Given the description of an element on the screen output the (x, y) to click on. 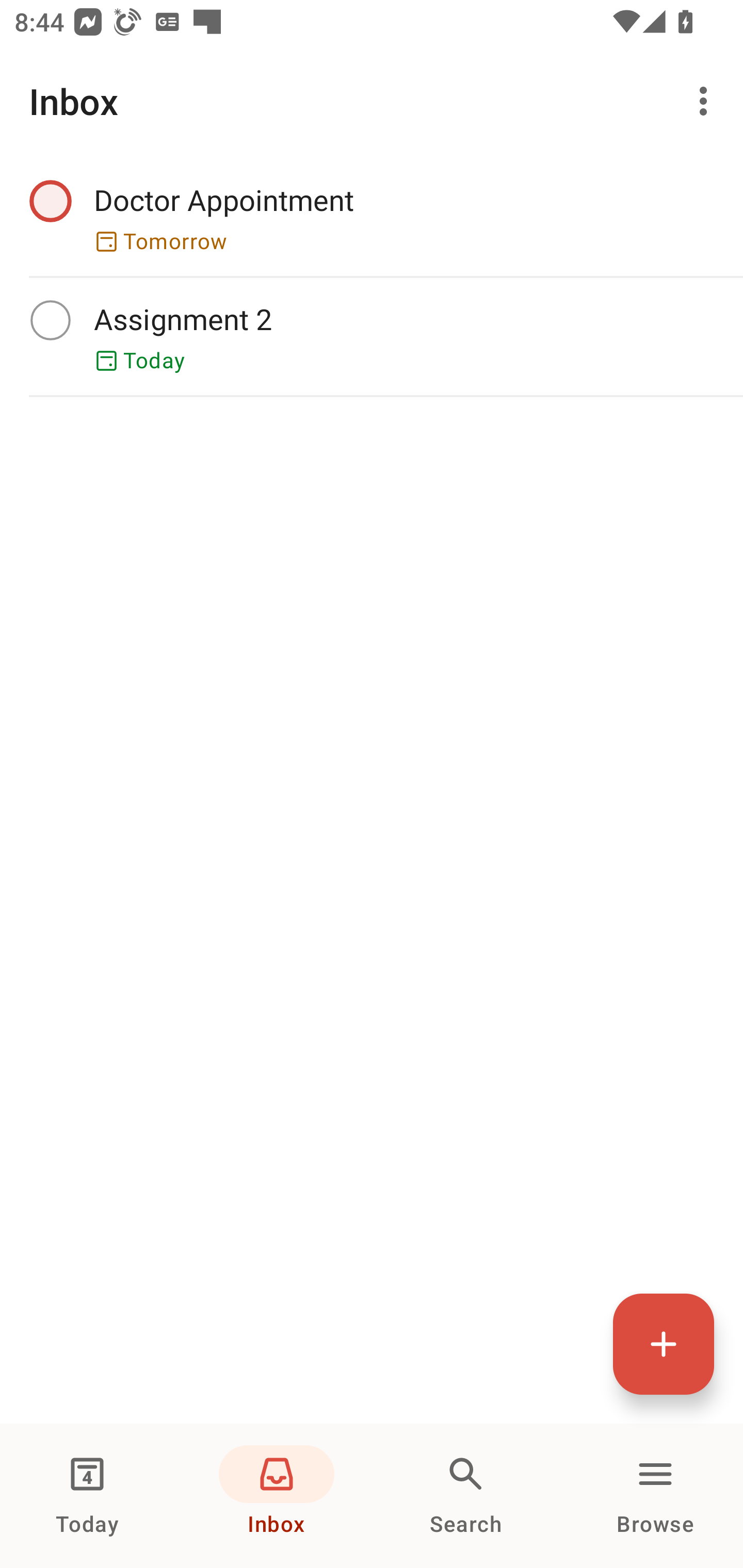
Inbox More options (371, 100)
More options (706, 101)
Complete Doctor Appointment Tomorrow (371, 216)
Complete (50, 200)
Complete Assignment 2 Today (371, 336)
Complete (50, 319)
Quick add (663, 1343)
Today (87, 1495)
Search (465, 1495)
Browse (655, 1495)
